Given the description of an element on the screen output the (x, y) to click on. 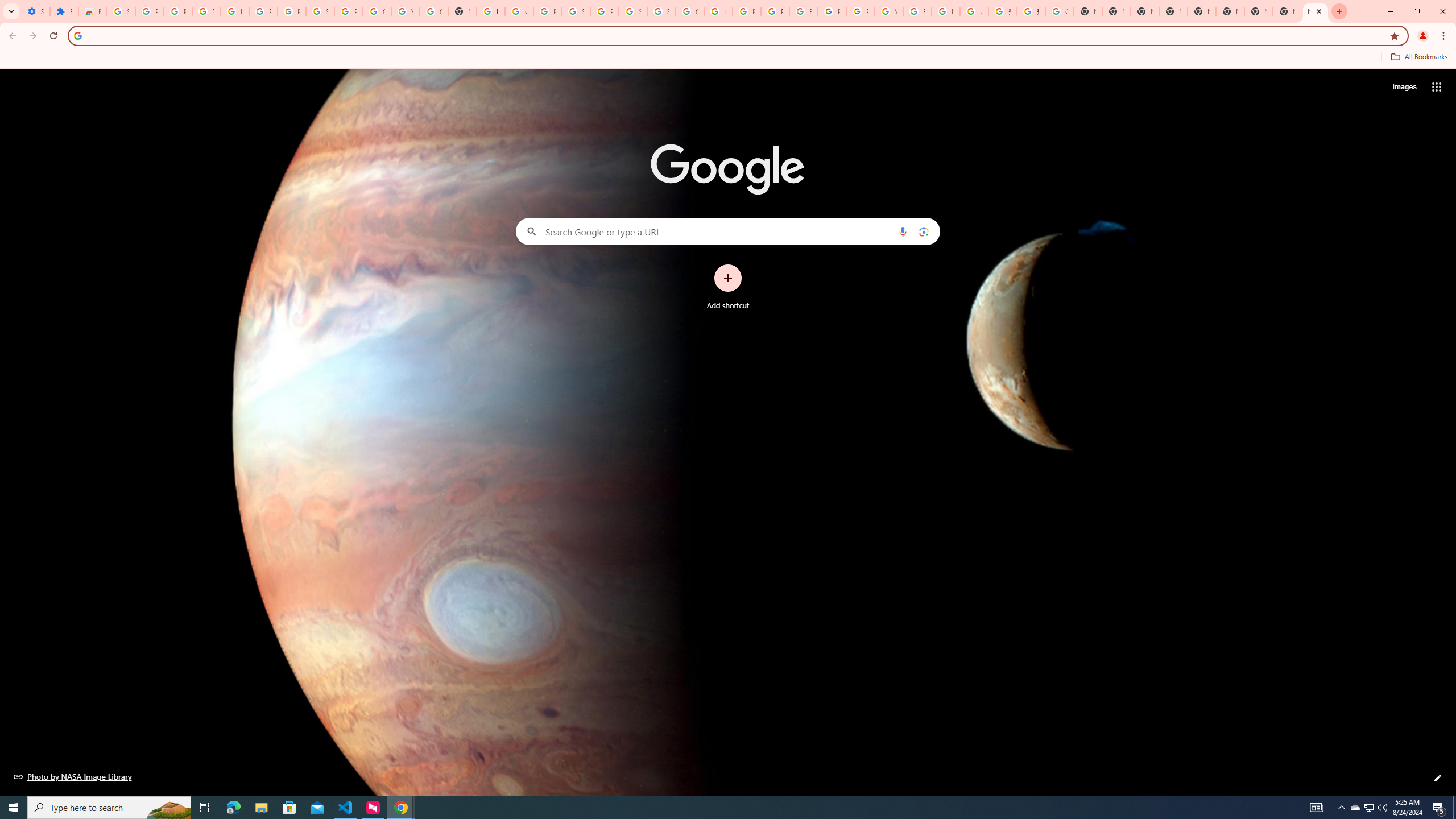
Search icon (77, 35)
Sign in - Google Accounts (320, 11)
Search for Images  (1403, 87)
Add shortcut (727, 287)
Extensions (63, 11)
Sign in - Google Accounts (120, 11)
YouTube (888, 11)
Learn how to find your photos - Google Photos Help (234, 11)
